Given the description of an element on the screen output the (x, y) to click on. 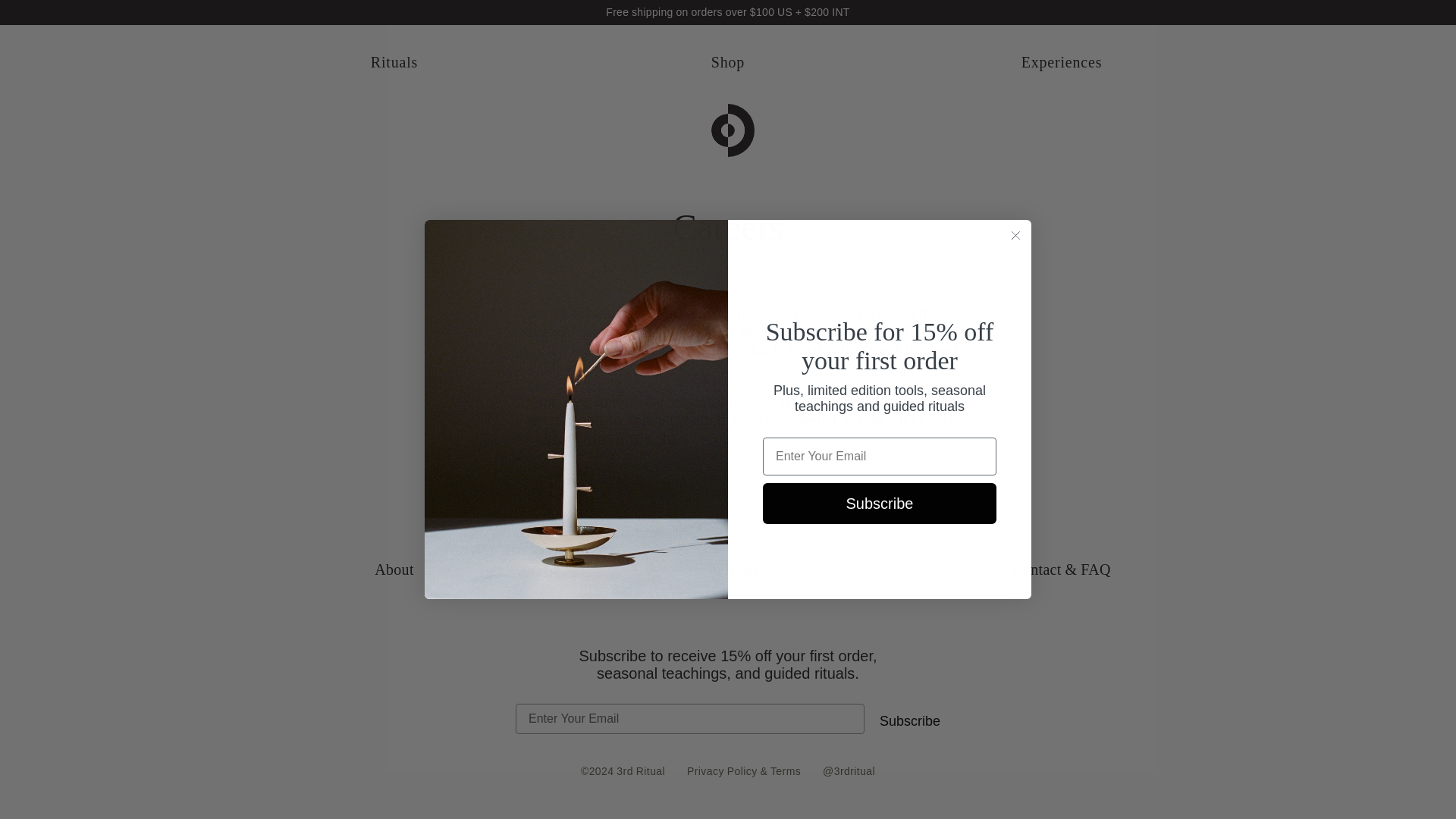
Wholesale (727, 569)
Rituals (394, 62)
Close dialog 2 (1015, 235)
3rd Ritual (727, 130)
Privacy Policy (722, 770)
About (393, 569)
Shop (727, 62)
Close dialog 2 (1015, 235)
Experiences (1062, 62)
Subscribe (878, 503)
Submit (151, 22)
Privacy Policy (722, 770)
Subscribe (909, 721)
Terms (785, 770)
